Given the description of an element on the screen output the (x, y) to click on. 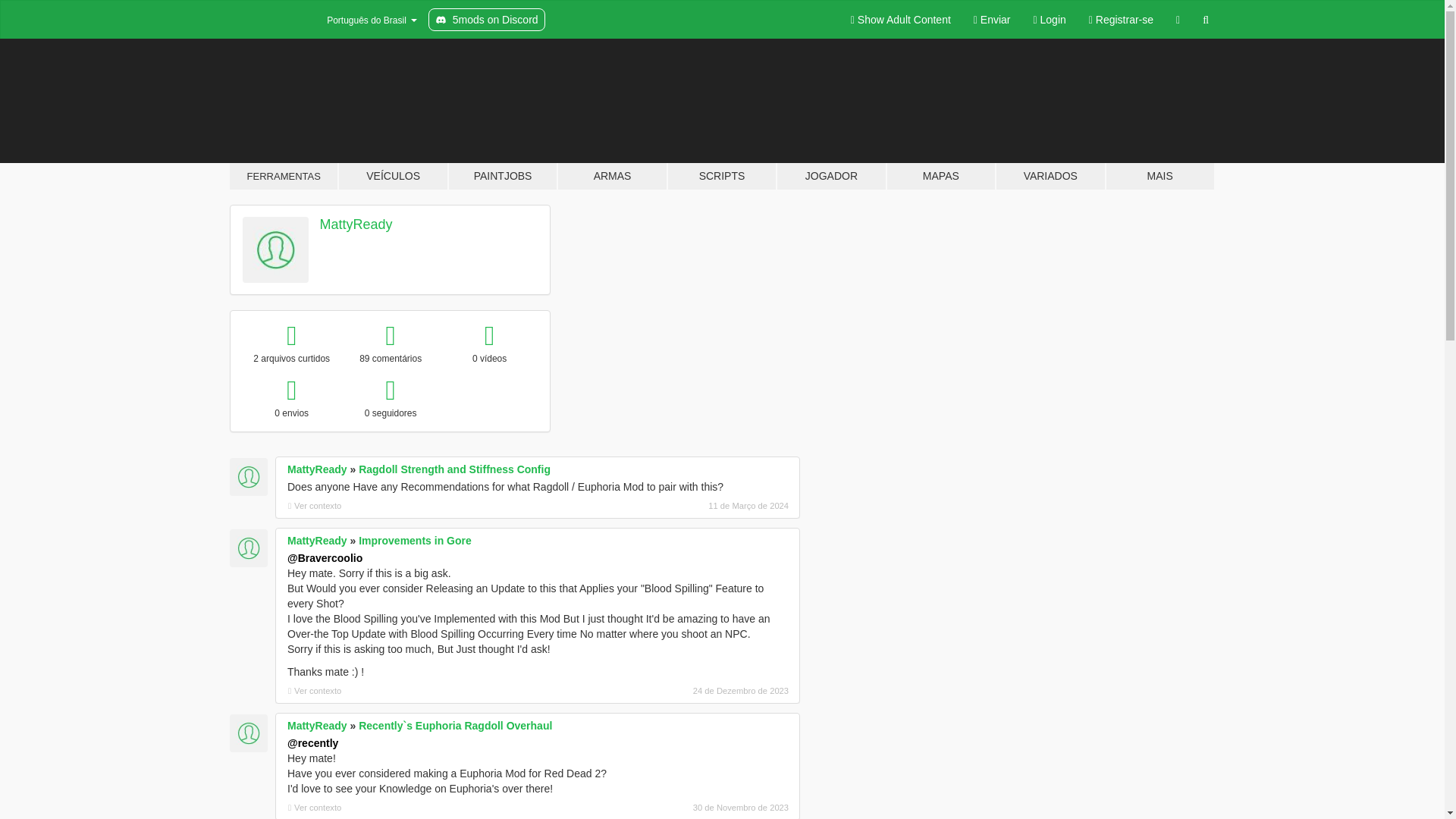
Light mode (901, 19)
Login (1049, 19)
Registrar-se (1120, 19)
Show Adult Content (901, 19)
5mods on Discord (486, 19)
Dark mode (1177, 19)
Enviar (992, 19)
